Given the description of an element on the screen output the (x, y) to click on. 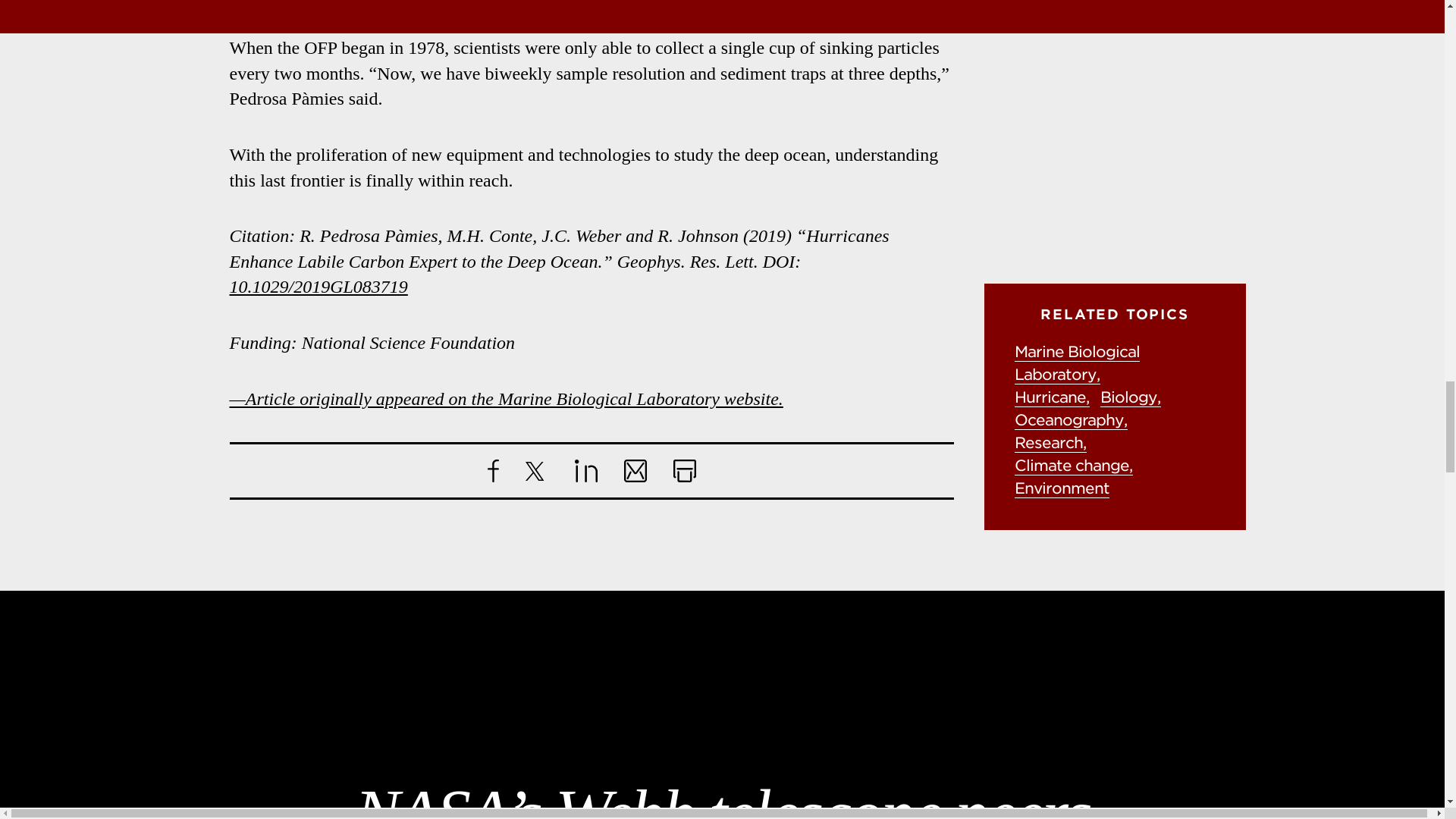
X (535, 470)
LinkedIn (585, 470)
Print Content (683, 470)
Share as an Email (634, 470)
